Given the description of an element on the screen output the (x, y) to click on. 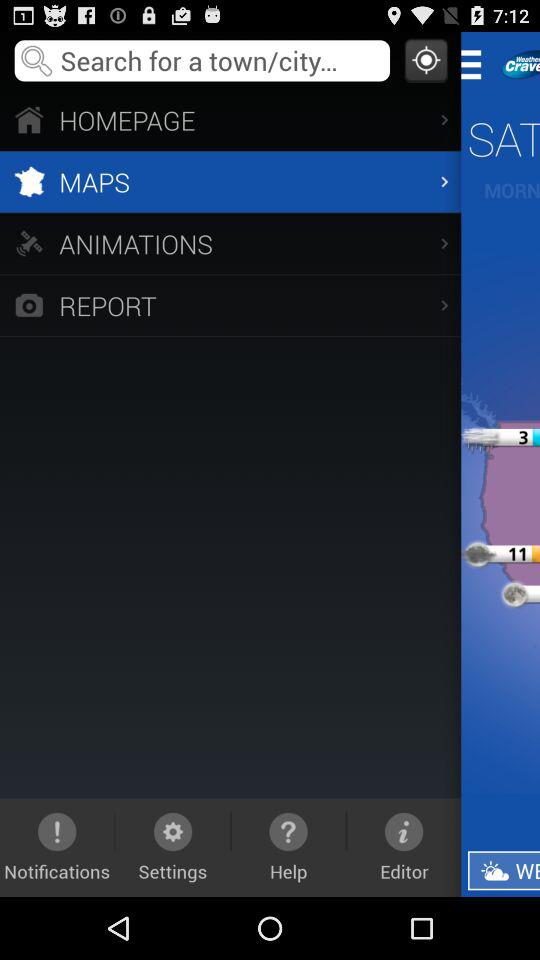
setting option (477, 63)
